Given the description of an element on the screen output the (x, y) to click on. 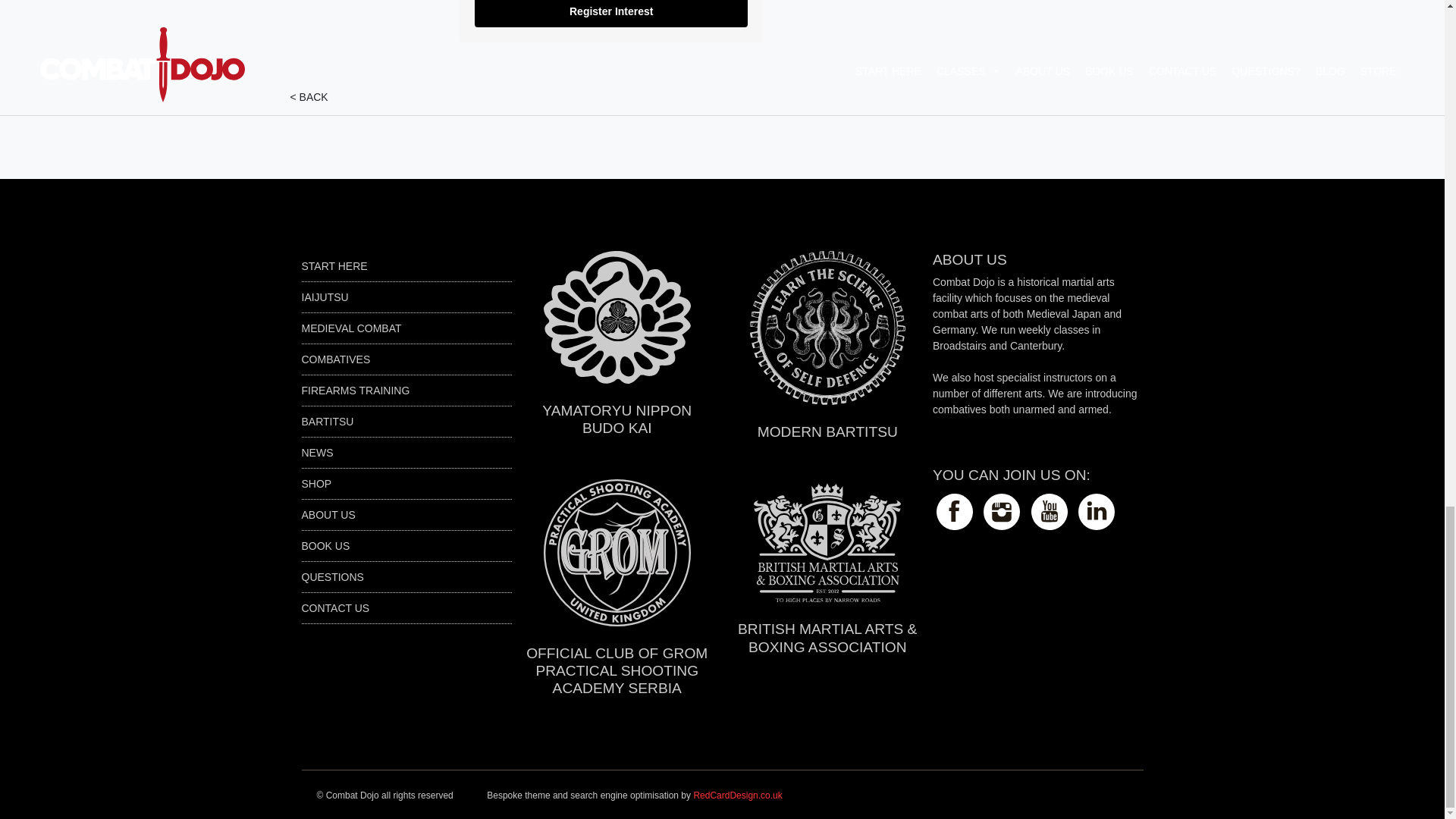
START HERE (334, 265)
Visit Red Card's website (737, 795)
IAIJUTSU (325, 297)
Register Interest (611, 13)
MEDIEVAL COMBAT (351, 328)
